Given the description of an element on the screen output the (x, y) to click on. 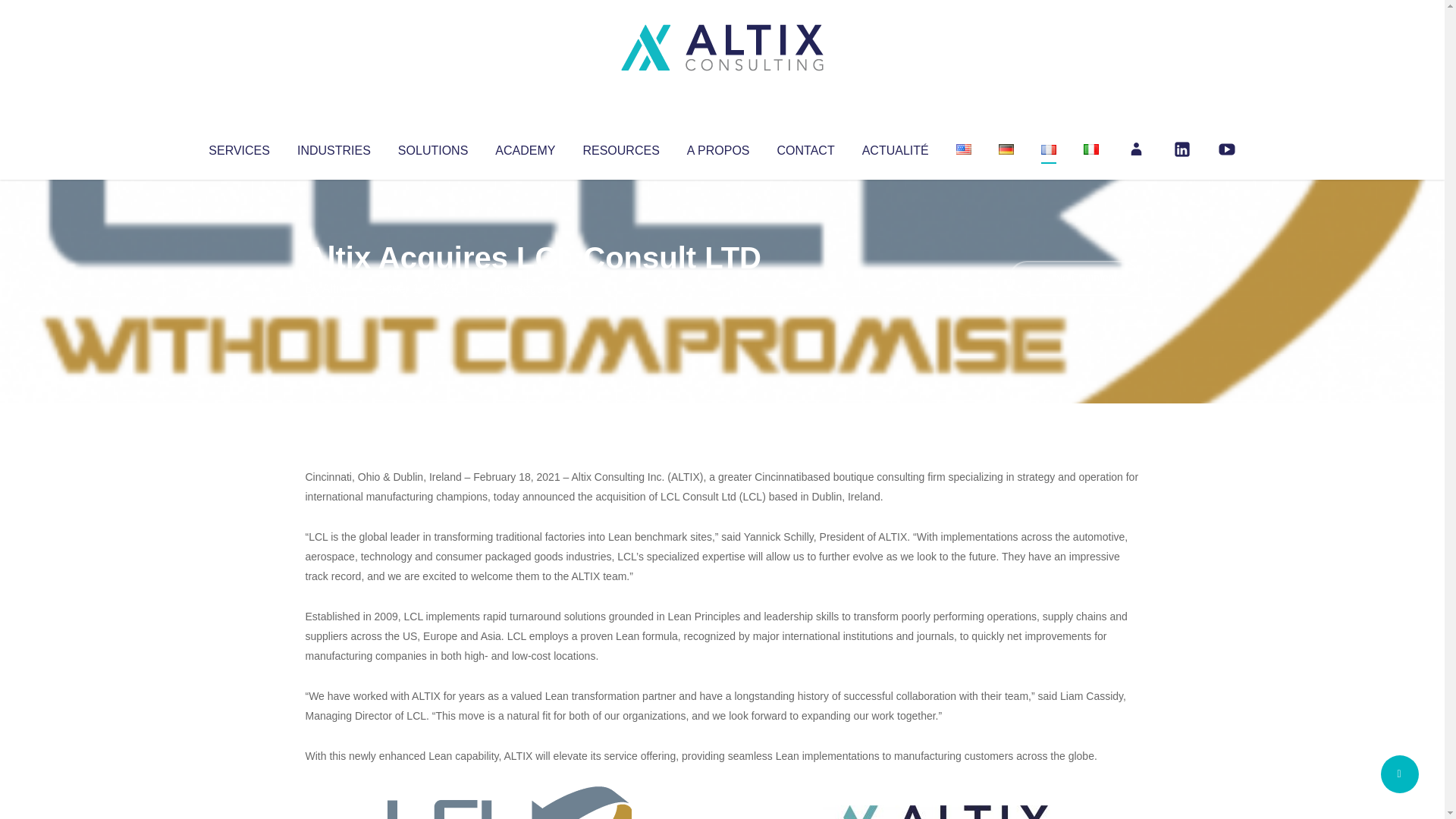
INDUSTRIES (334, 146)
A PROPOS (718, 146)
Uncategorized (530, 287)
ACADEMY (524, 146)
No Comments (1073, 278)
SERVICES (238, 146)
Articles par Altix (333, 287)
Altix (333, 287)
SOLUTIONS (432, 146)
RESOURCES (620, 146)
